Given the description of an element on the screen output the (x, y) to click on. 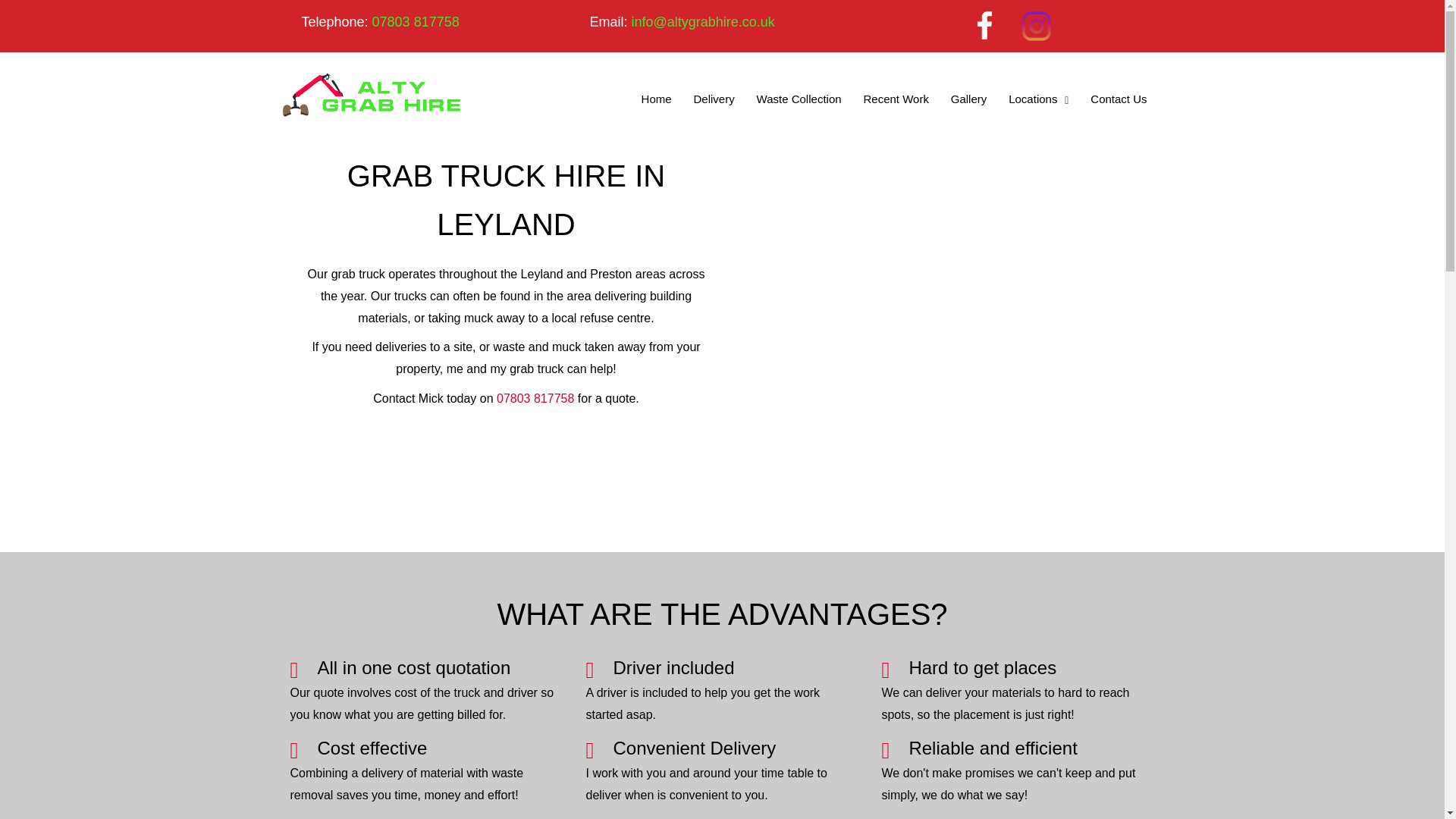
Locations (1038, 98)
Delivery (713, 98)
Recent Work (895, 98)
07803 817758 (416, 21)
Contact Us (1118, 98)
07803 817758 (534, 398)
Home (656, 98)
Waste Collection (799, 98)
Gallery (968, 98)
